Given the description of an element on the screen output the (x, y) to click on. 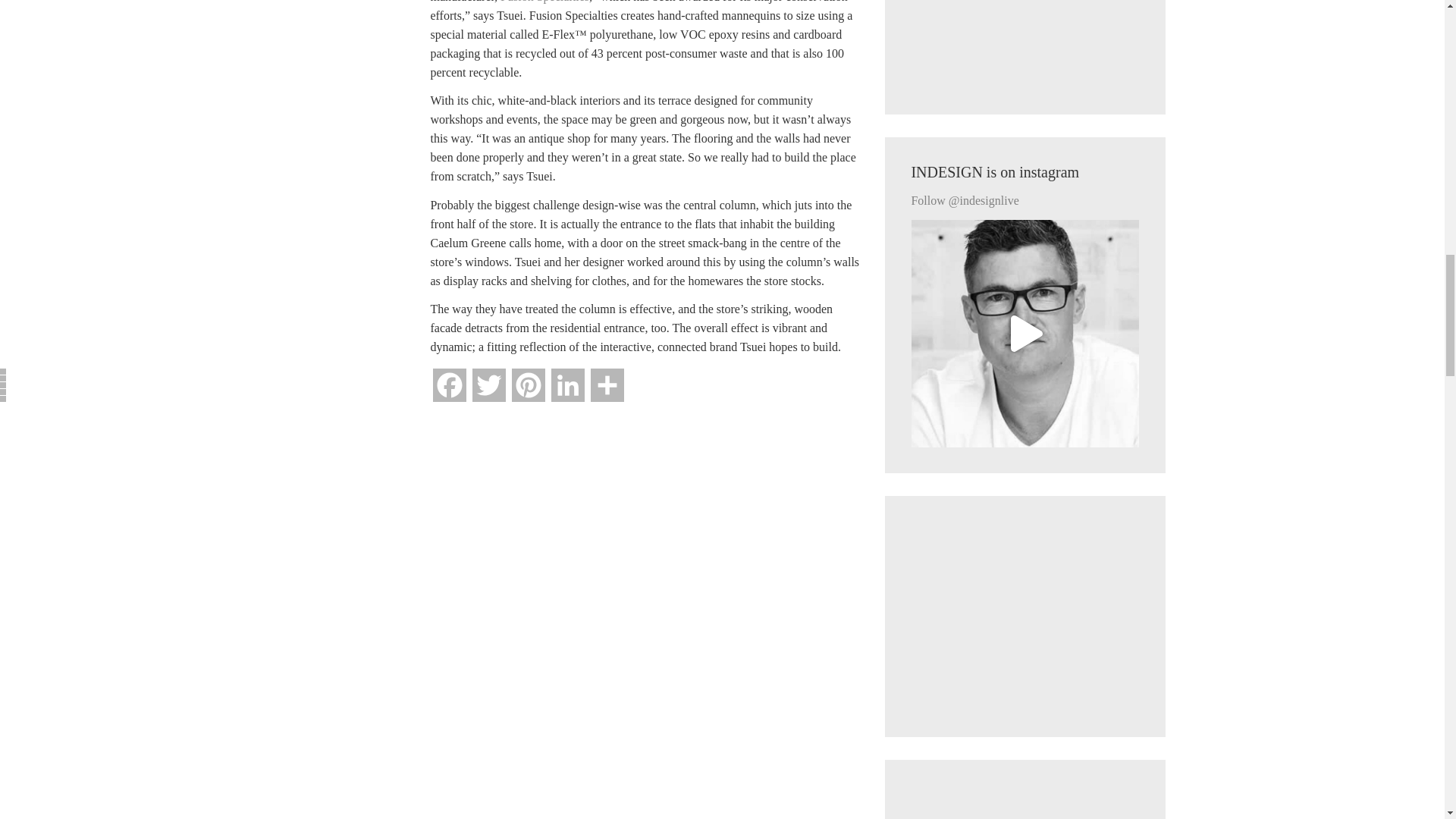
Twitter (488, 391)
Facebook (448, 391)
3rd party ad content (1024, 44)
LinkedIn (568, 391)
Pinterest (528, 391)
